Given the description of an element on the screen output the (x, y) to click on. 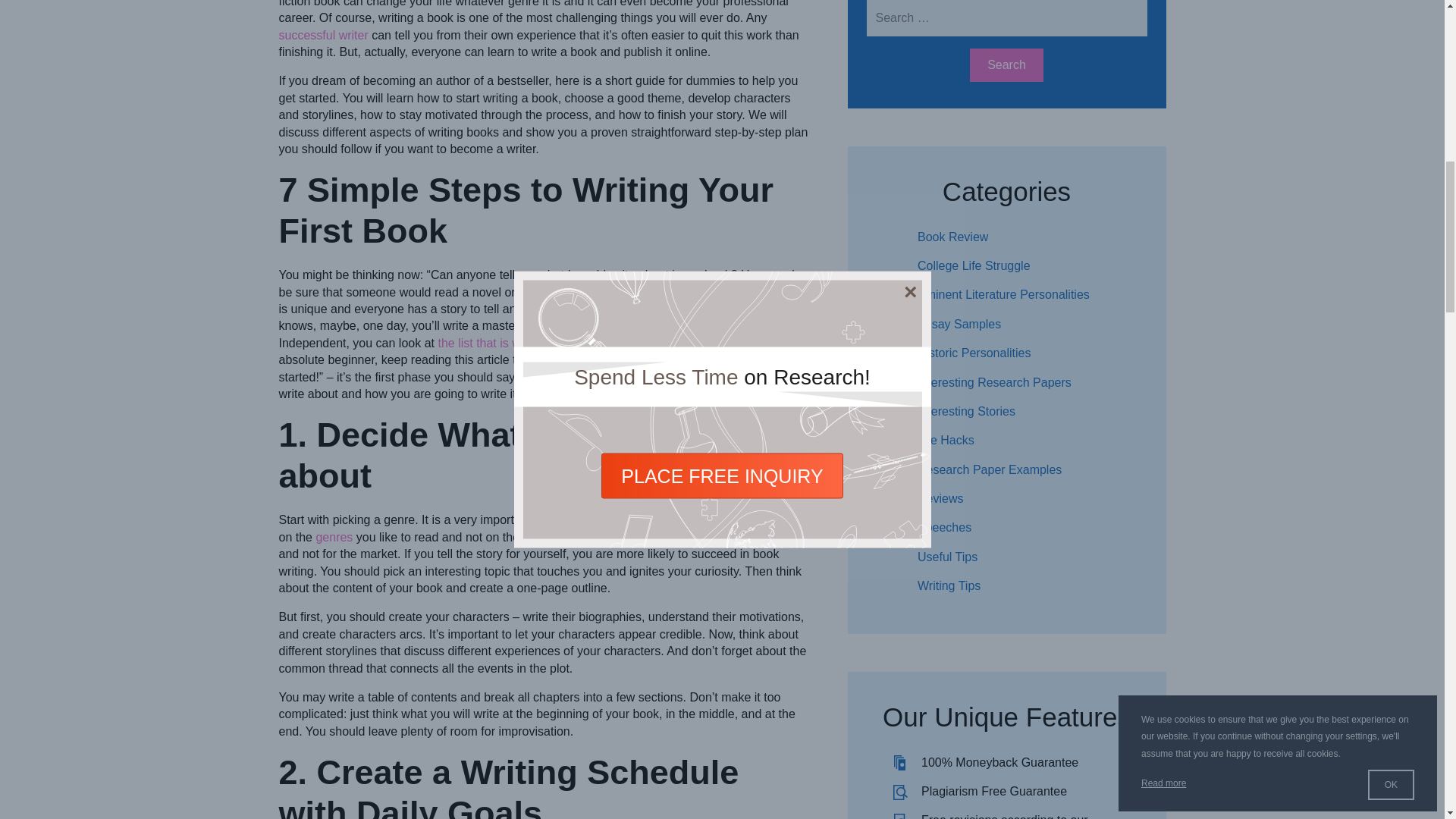
Search (1006, 64)
the list that is worth to read through the whole life (569, 342)
Search (1006, 64)
genres (333, 536)
Book Review (952, 236)
successful writer (323, 34)
College Life Struggle (973, 265)
Search (1006, 64)
Eminent Literature Personalities (1003, 294)
Interesting Research Papers (994, 382)
Historic Personalities (973, 352)
Essay Samples (959, 323)
